Given the description of an element on the screen output the (x, y) to click on. 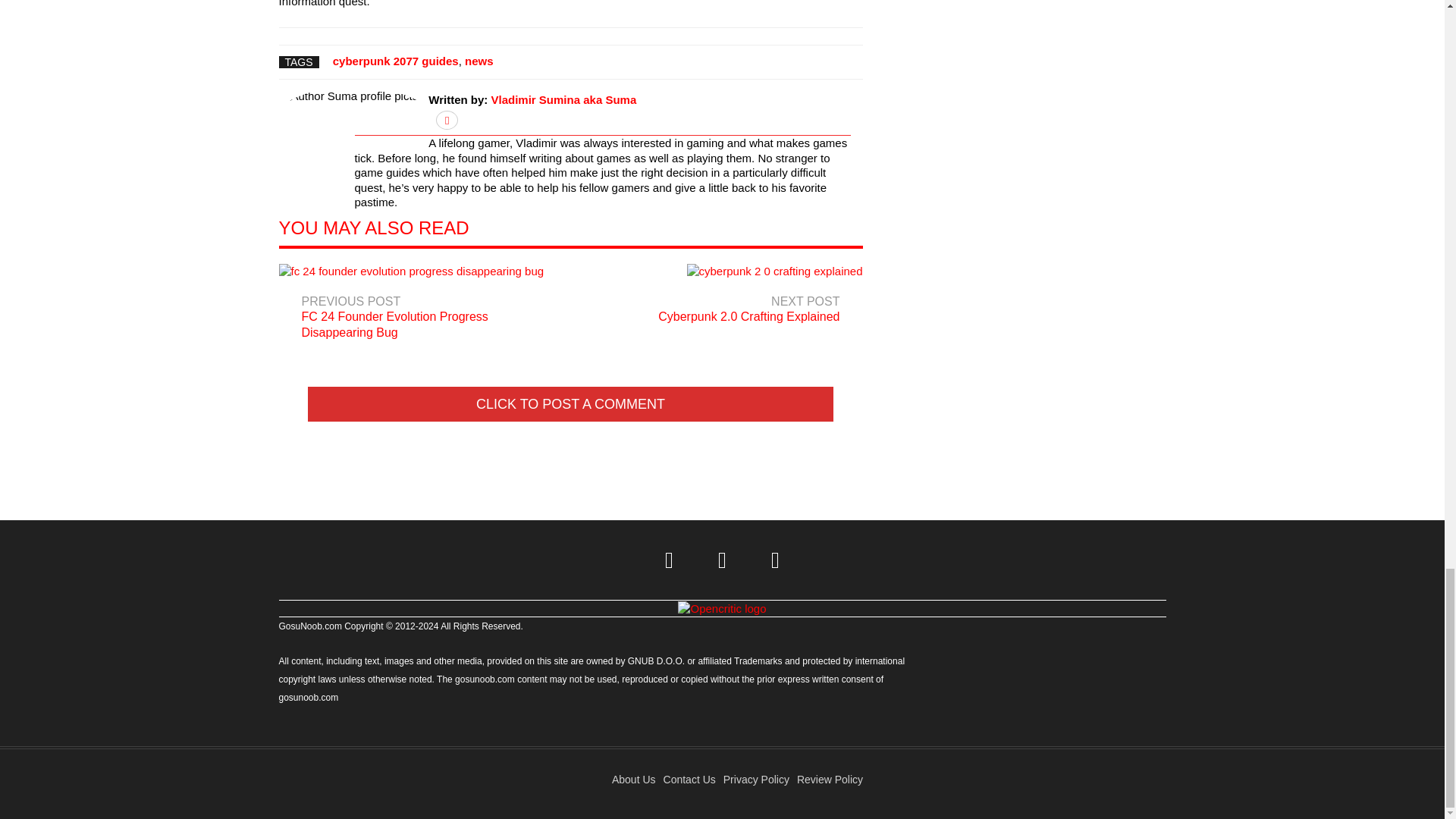
Youtube Channel (776, 559)
Twitter Profile (669, 559)
Facebook Profile page (719, 298)
news (722, 559)
cyberpunk 2077 guides (478, 60)
Vladimir Sumina aka Suma (395, 60)
Contact author (564, 99)
